Given the description of an element on the screen output the (x, y) to click on. 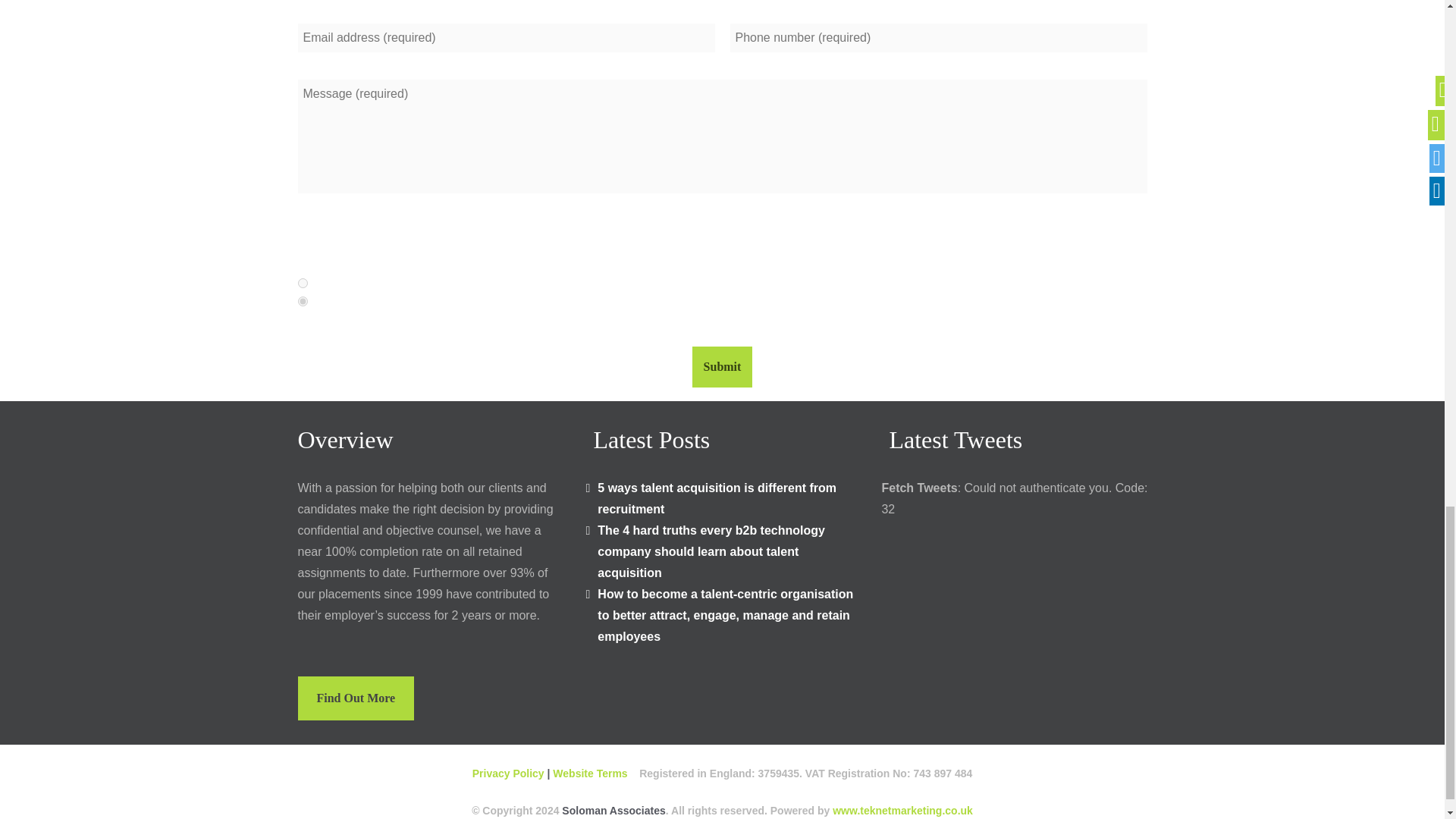
Yes, I am happy to be contacted. (302, 283)
Find Out More (355, 698)
Submit (722, 366)
Website Terms (591, 773)
Privacy Policy (509, 773)
No, just contact me about this enquiry. (302, 301)
5 ways talent acquisition is different from recruitment (715, 498)
Submit (722, 366)
